Given the description of an element on the screen output the (x, y) to click on. 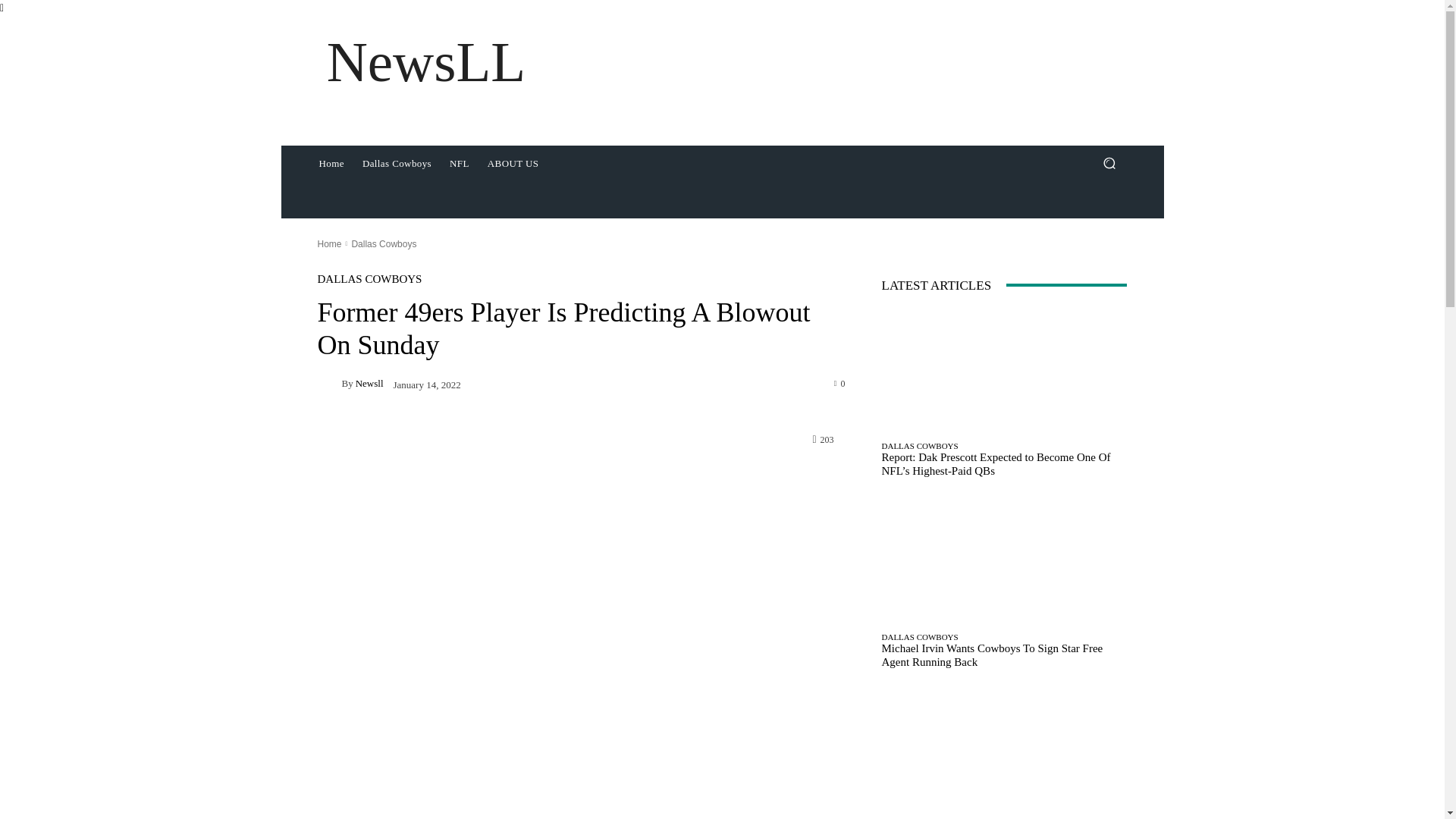
Home (328, 243)
NFL (460, 163)
Dallas Cowboys (397, 163)
View all posts in Dallas Cowboys (383, 243)
Dallas Cowboys (383, 243)
Home (330, 163)
newsll (328, 383)
NewsLL (425, 62)
ABOUT US (513, 163)
DALLAS COWBOYS (369, 278)
